Given the description of an element on the screen output the (x, y) to click on. 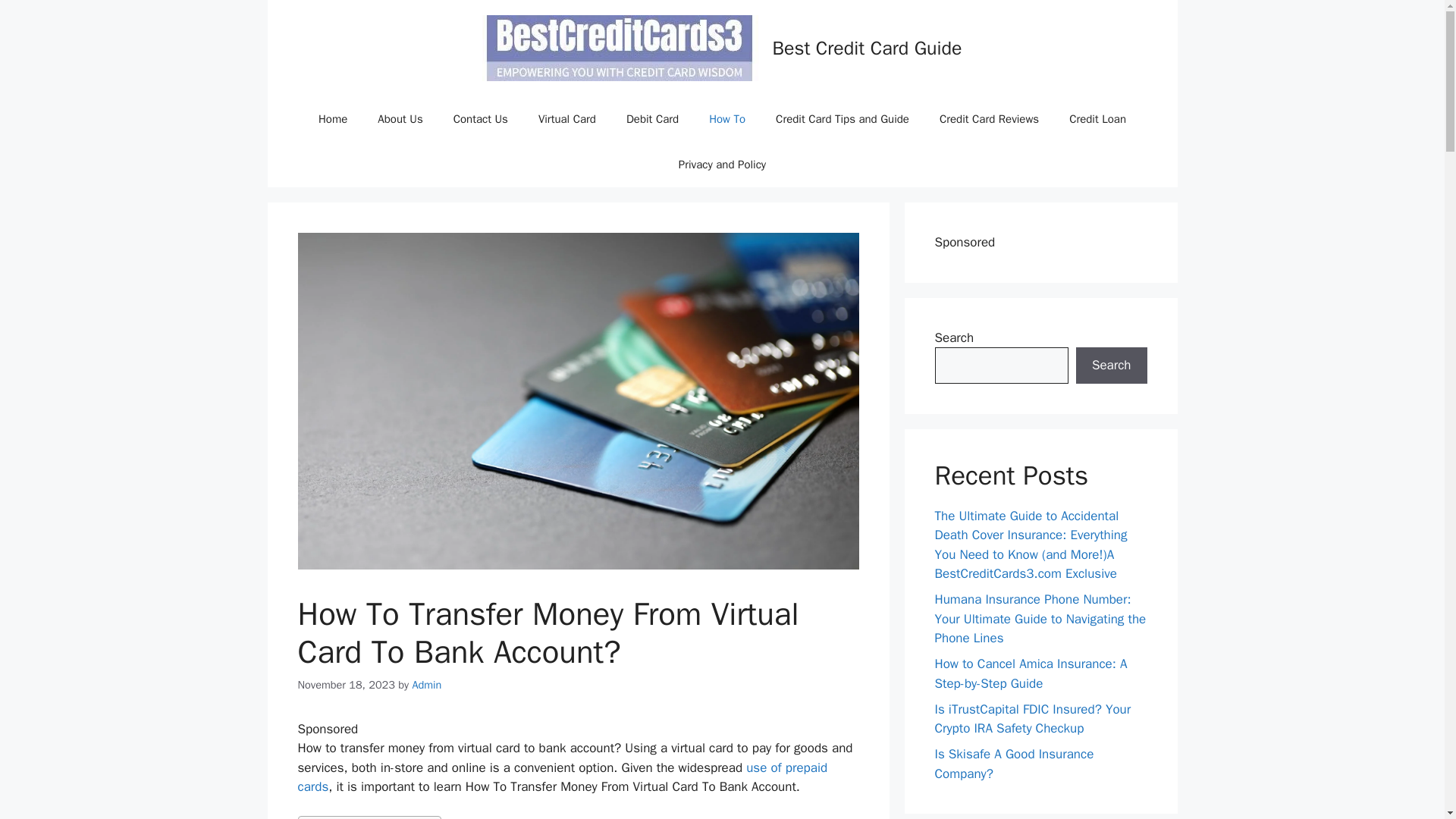
Best Credit Card Guide (865, 47)
Contact Us (480, 118)
Admin (426, 684)
View all posts by Admin (426, 684)
Credit Card Reviews (989, 118)
About Us (400, 118)
Virtual Card (566, 118)
How To (727, 118)
Debit Card (652, 118)
Privacy and Policy (721, 164)
Credit Card Tips and Guide (842, 118)
Credit Loan (1097, 118)
use of prepaid cards (562, 777)
Home (332, 118)
